Given the description of an element on the screen output the (x, y) to click on. 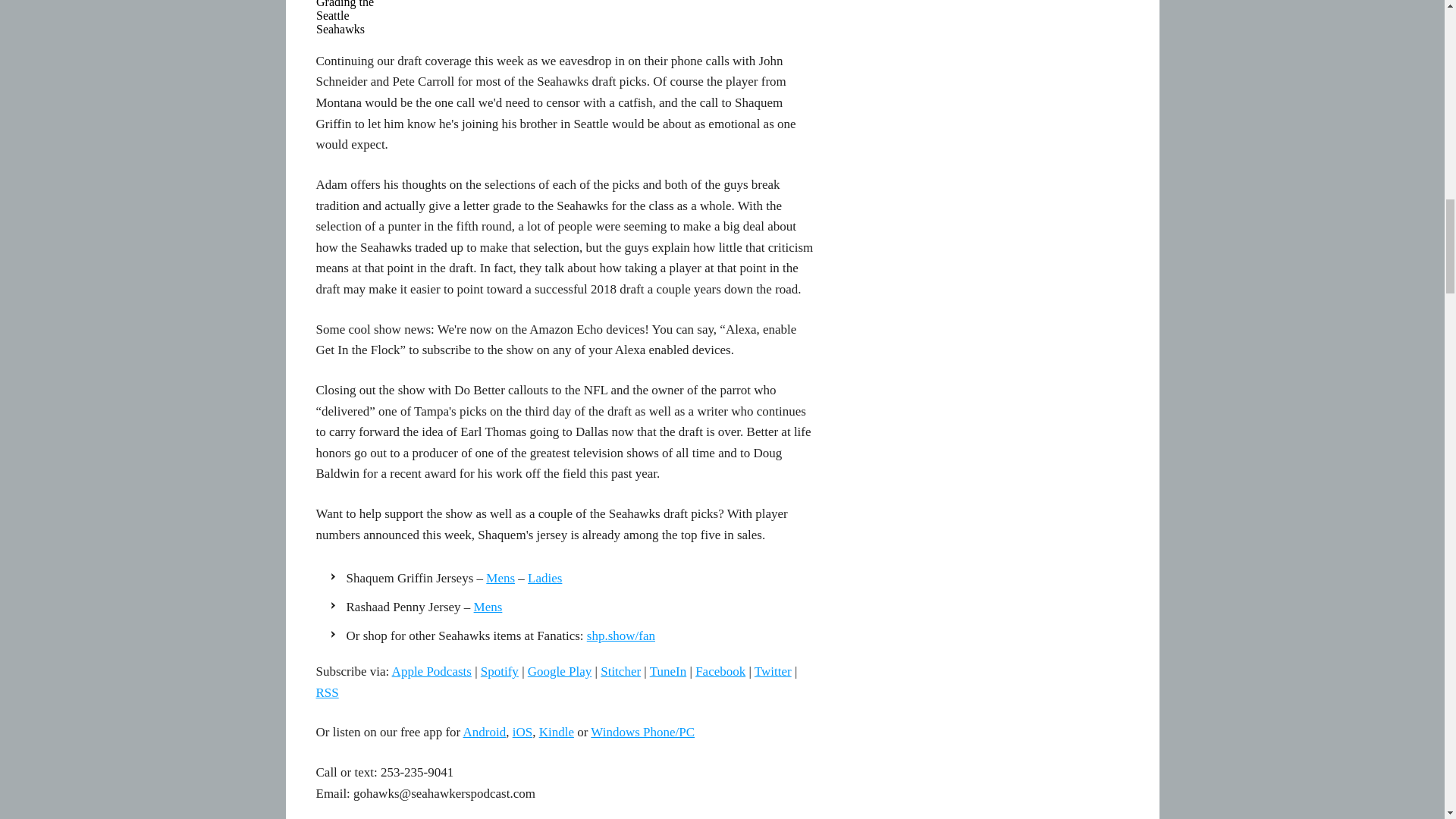
Mens (488, 606)
Mens (500, 577)
Ladies (544, 577)
